Given the description of an element on the screen output the (x, y) to click on. 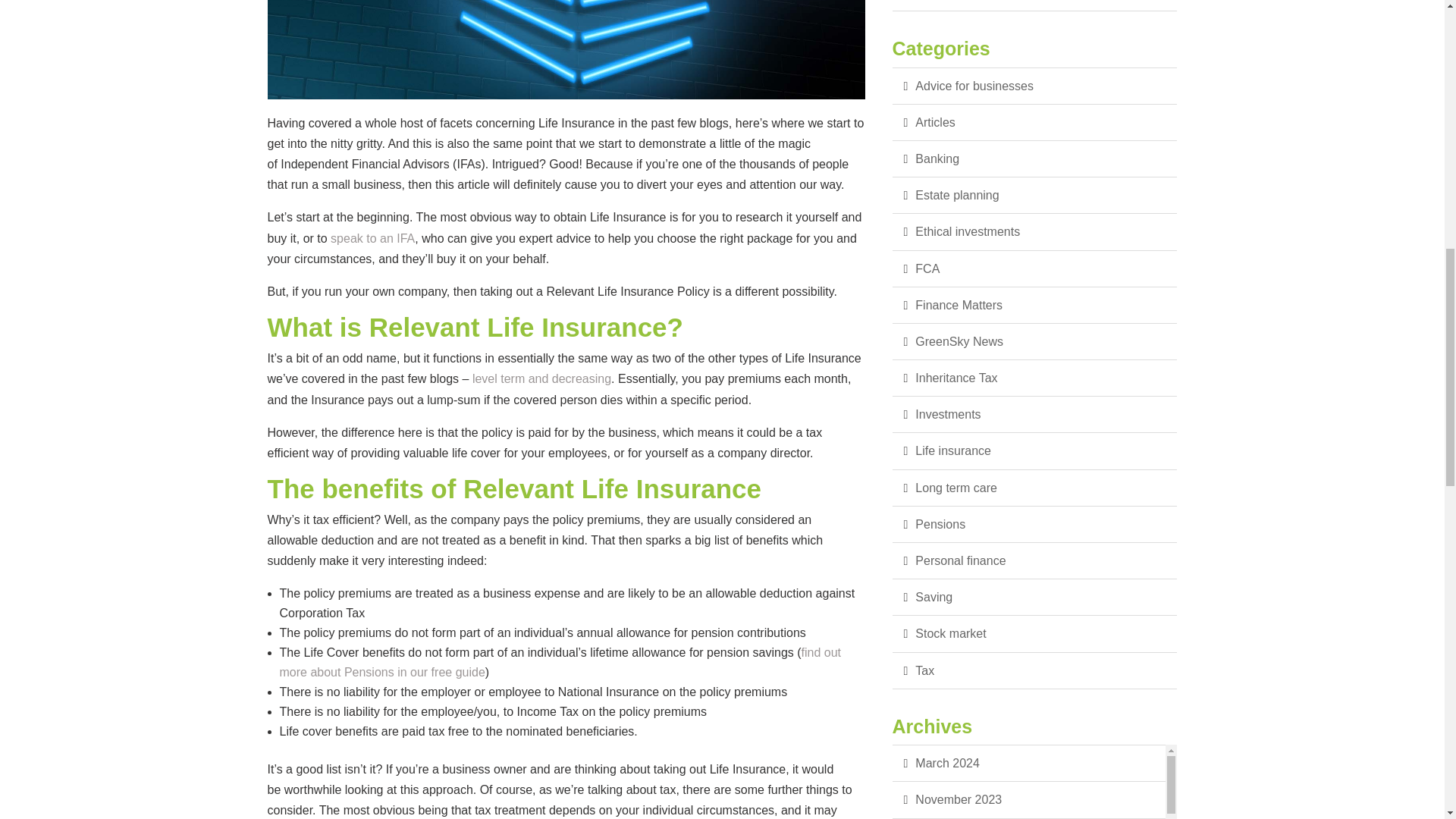
level term and decreasing (541, 378)
Understanding the different types of Life Insurance (541, 378)
Pension Book (560, 662)
Advice for businesses (1033, 85)
Contact us (372, 237)
Articles (1033, 122)
speak to an IFA (372, 237)
find out more about Pensions in our free guide (560, 662)
What Happens to Your State Pension When You Die? (1033, 5)
